Given the description of an element on the screen output the (x, y) to click on. 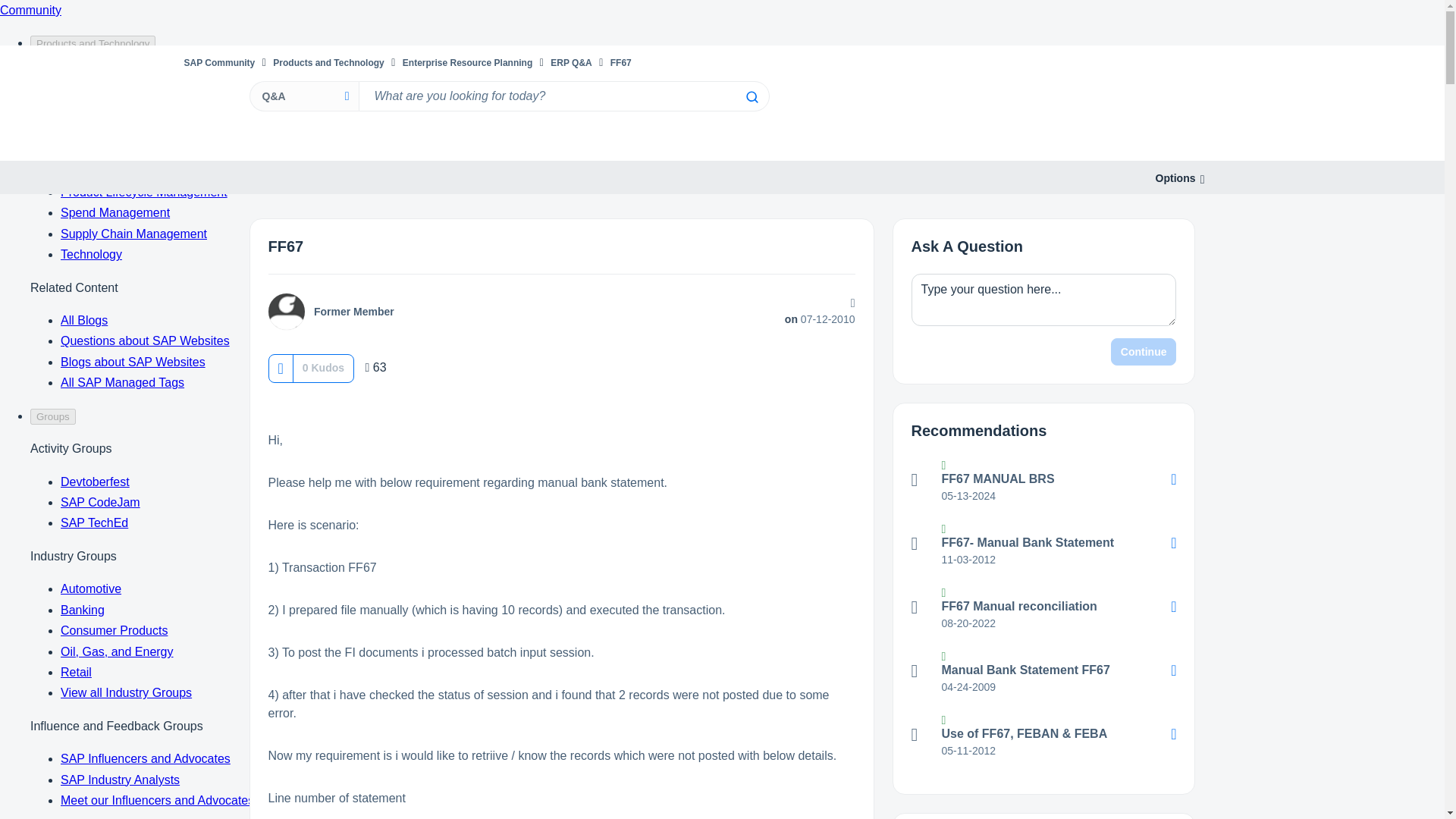
Search (750, 96)
Click here to give kudos to this post. (279, 367)
Continue (1143, 351)
Enterprise Resource Planning (467, 62)
Search (750, 96)
Products and Technology (328, 62)
Search (563, 96)
The total number of kudos this post has received. (323, 367)
Search (750, 96)
Options (1176, 178)
Show option menu (1176, 178)
SAP Community (218, 62)
Continue (1143, 351)
Search Granularity (303, 96)
